Given the description of an element on the screen output the (x, y) to click on. 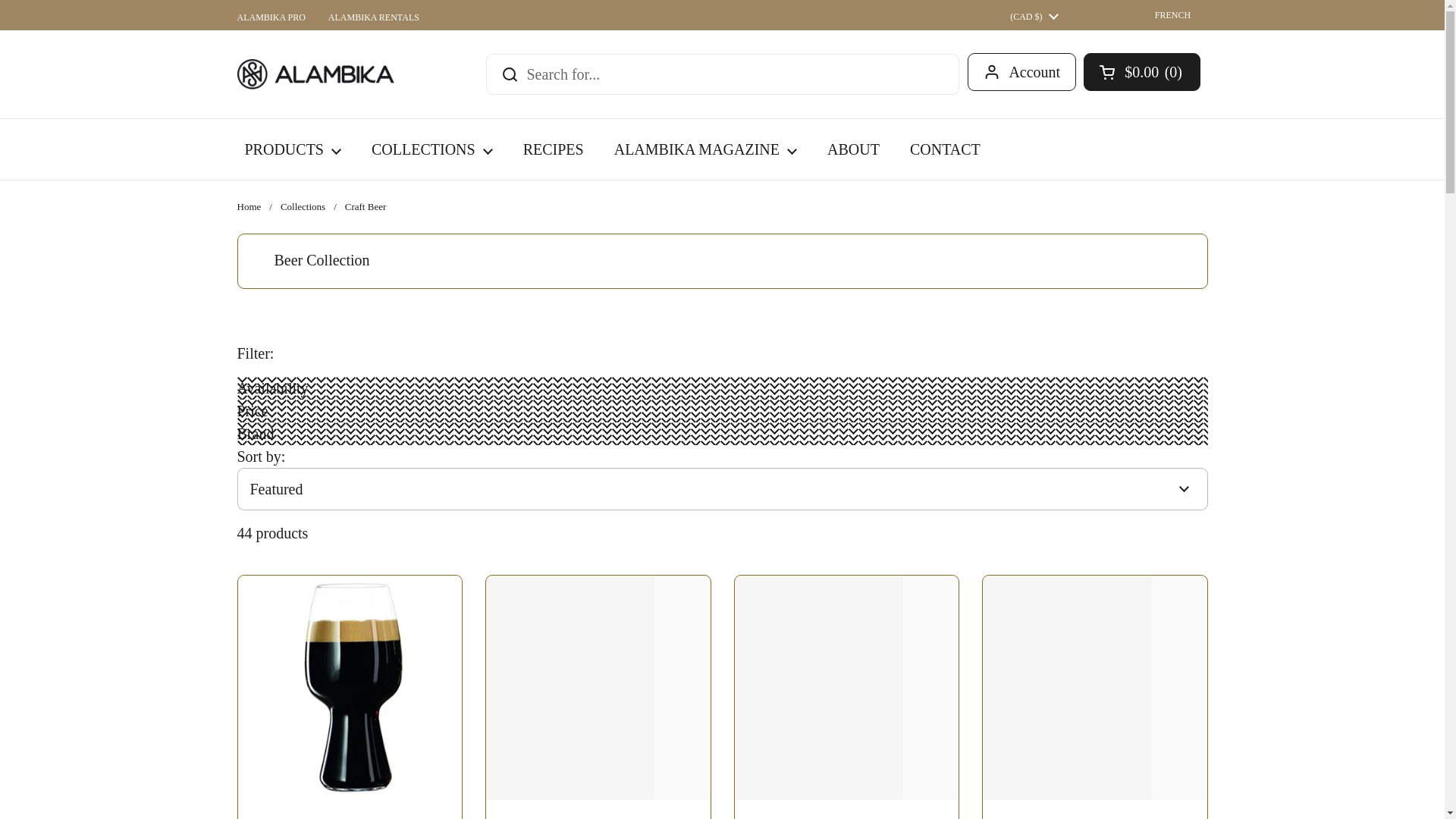
Alambika Element type: hover (314, 74)
COLLECTIONS Element type: text (432, 149)
ALAMBIKA MAGAZINE Element type: text (705, 149)
FRENCH Element type: text (1165, 14)
Home Element type: text (248, 206)
Open cart
$0.00
0 Element type: text (1141, 72)
CONTACT Element type: text (944, 149)
RECIPES Element type: text (553, 149)
ALAMBIKA PRO Element type: text (270, 17)
ABOUT Element type: text (853, 149)
PRODUCTS Element type: text (292, 149)
Skip to content Element type: text (0, 0)
Collections Element type: text (302, 206)
Account Element type: text (1021, 72)
ALAMBIKA RENTALS Element type: text (373, 17)
(CAD $) Element type: text (1033, 15)
